Given the description of an element on the screen output the (x, y) to click on. 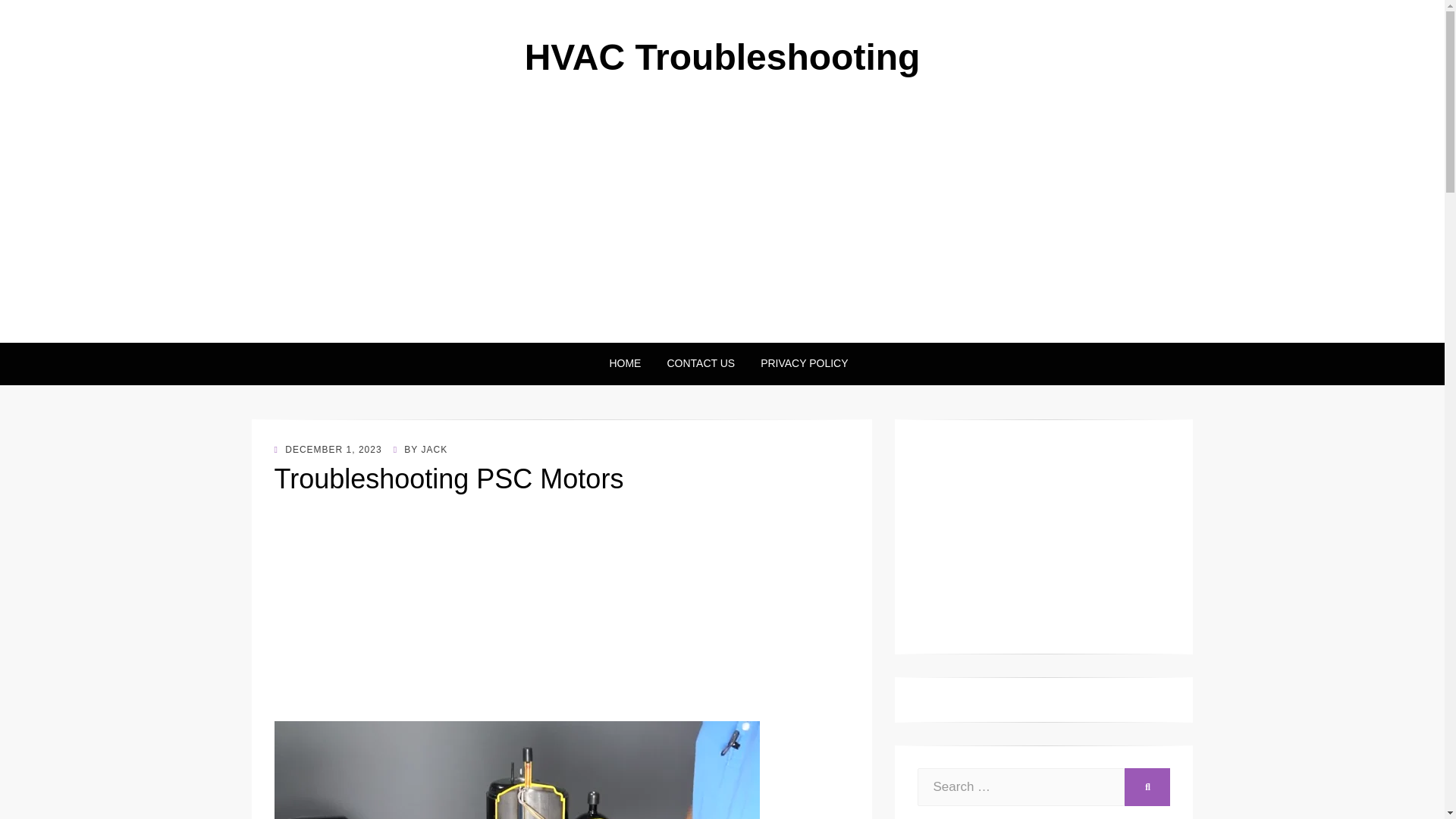
Search for: (1021, 786)
Advertisement (561, 614)
HVAC Troubleshooting (722, 56)
JACK (433, 449)
HOME (624, 363)
HVAC Troubleshooting (722, 56)
CONTACT US (700, 363)
Advertisement (1043, 536)
DECEMBER 1, 2023 (328, 449)
PRIVACY POLICY (797, 363)
SEARCH (1147, 786)
